Given the description of an element on the screen output the (x, y) to click on. 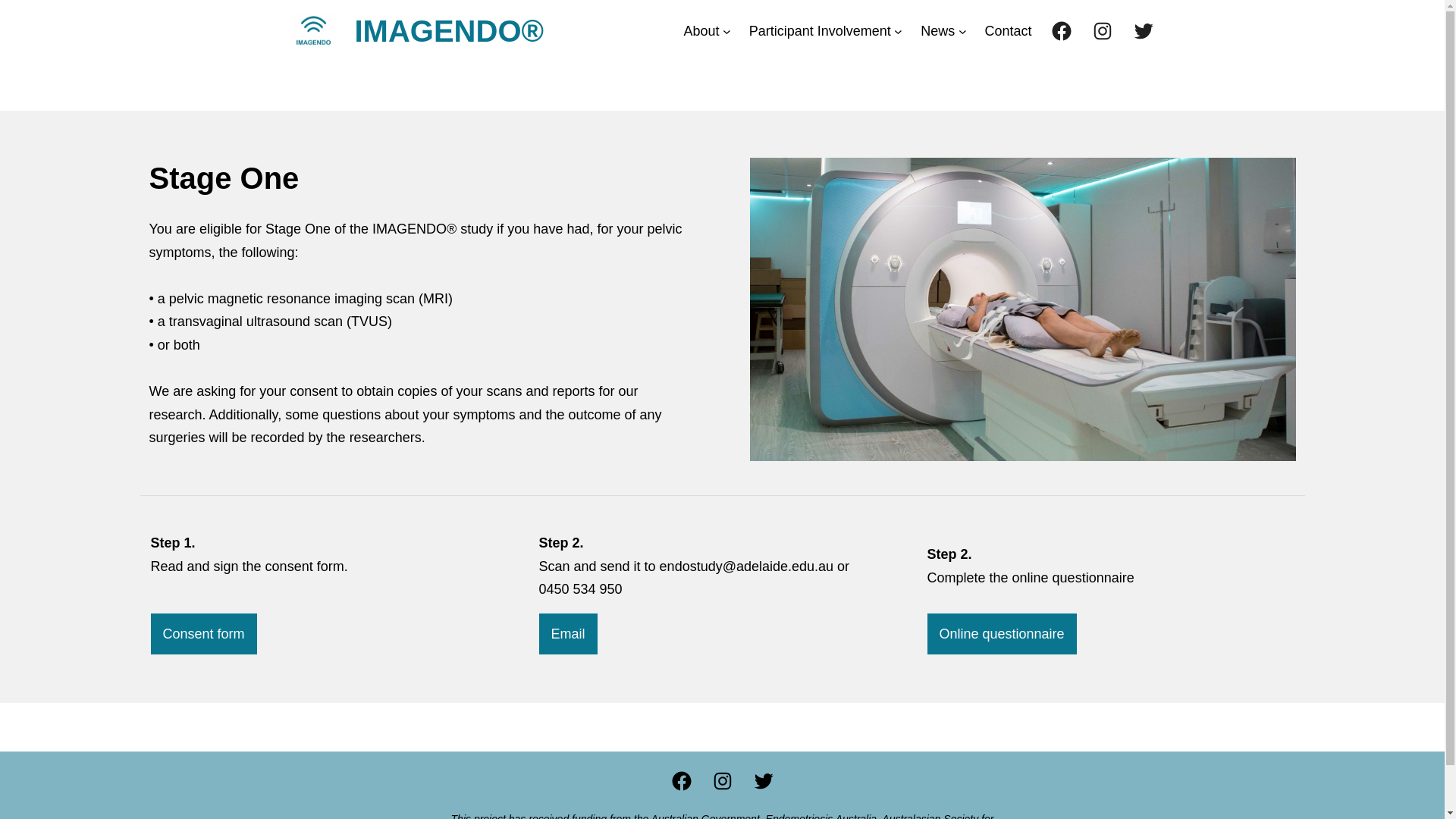
Consent form Element type: text (203, 634)
About Element type: text (700, 31)
Facebook Element type: text (1060, 30)
Participant Involvement Element type: text (820, 31)
Online questionnaire Element type: text (1001, 634)
Twitter Element type: text (1142, 30)
Email Element type: text (567, 634)
Twitter Element type: text (763, 780)
News Element type: text (937, 31)
Facebook Element type: text (681, 780)
Contact Element type: text (1007, 31)
Instagram Element type: text (722, 780)
Instagram Element type: text (1101, 30)
